Given the description of an element on the screen output the (x, y) to click on. 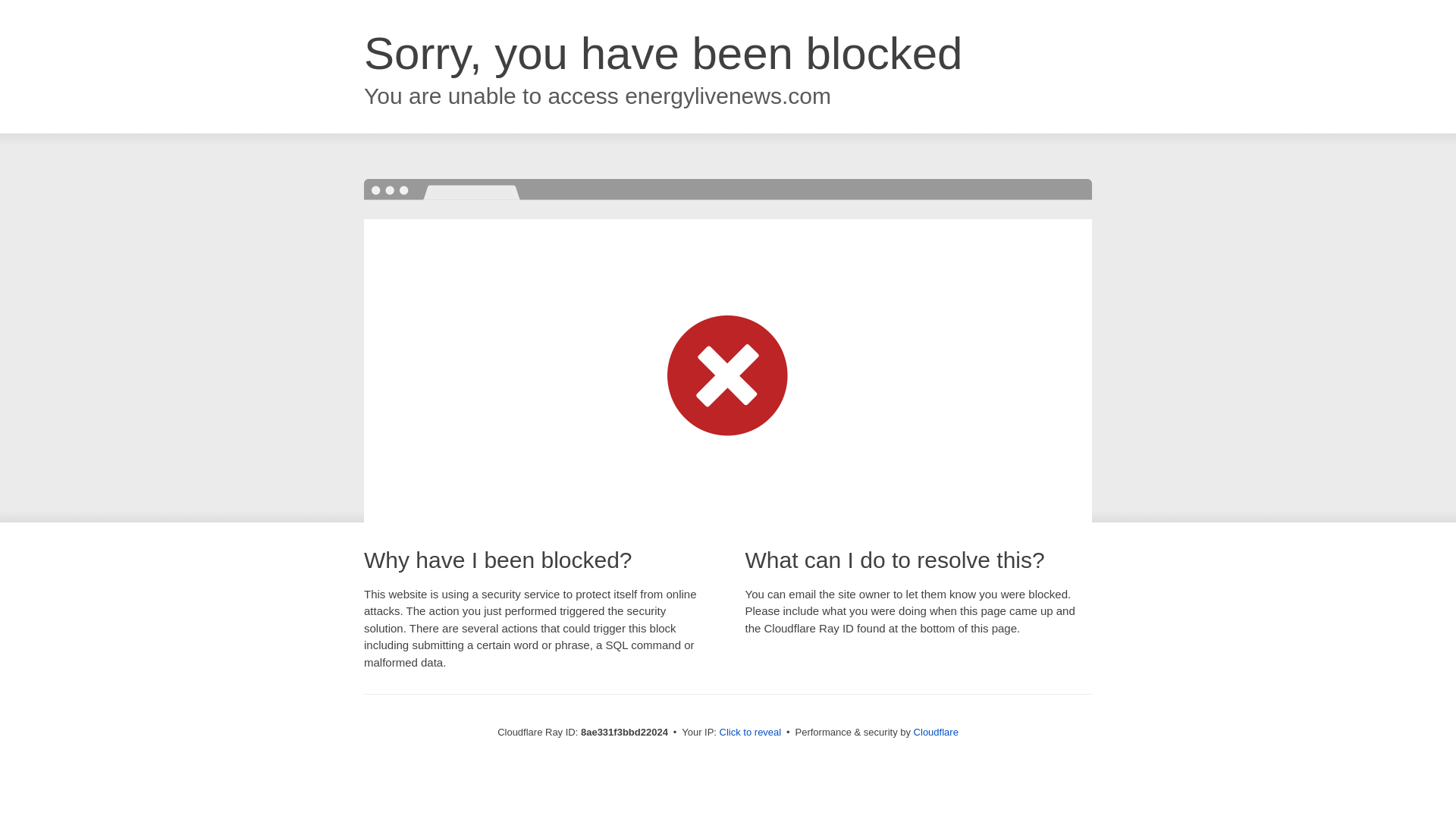
Click to reveal (750, 732)
Cloudflare (936, 731)
